Given the description of an element on the screen output the (x, y) to click on. 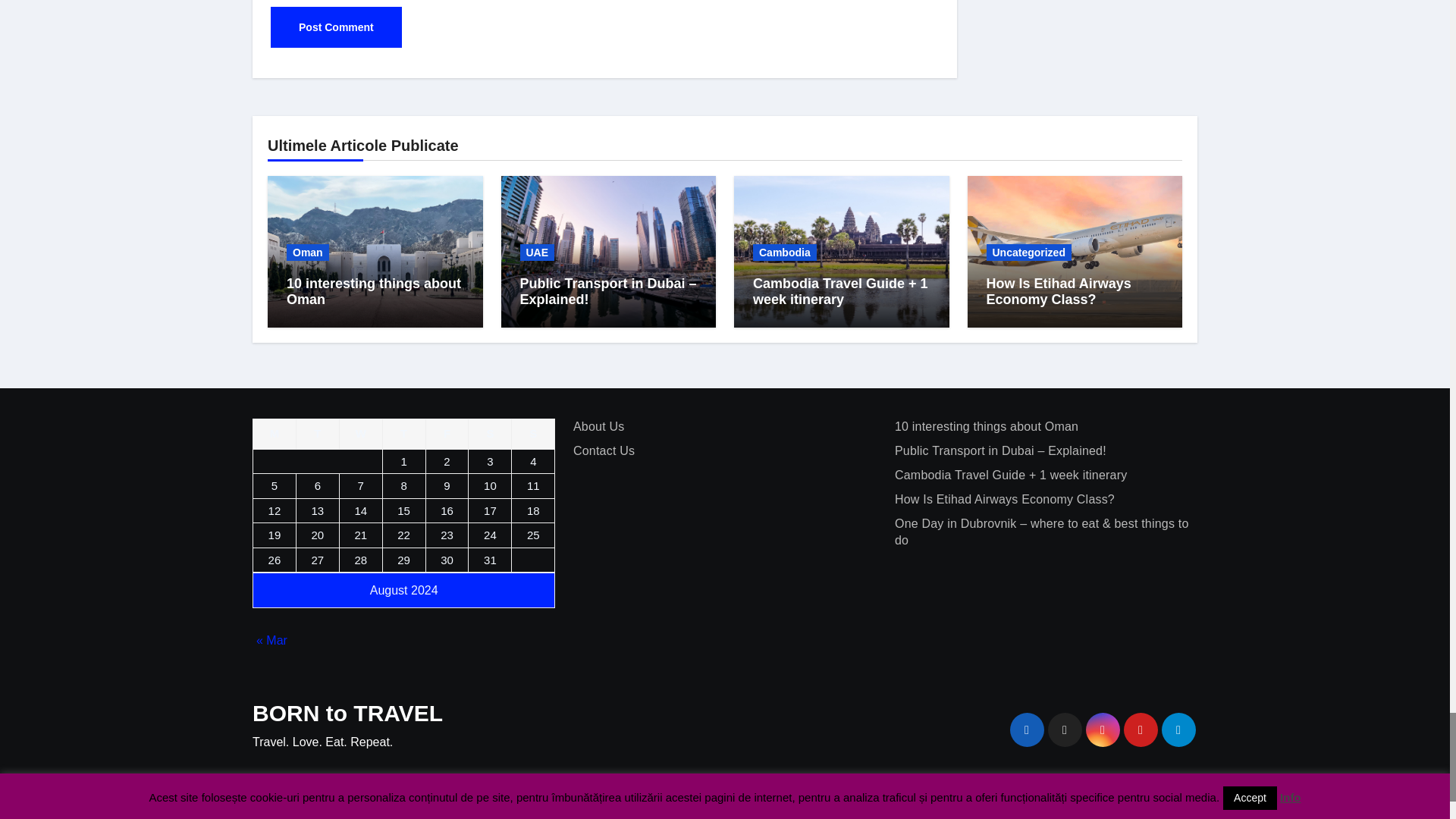
Sunday (533, 434)
Tuesday (317, 434)
Friday (446, 434)
Saturday (490, 434)
Wednesday (360, 434)
Thursday (403, 434)
Post Comment (335, 26)
Permalink to: 10 interesting things about Oman (373, 291)
Monday (275, 434)
Permalink to: How Is Etihad Airways Economy Class? (1058, 291)
